Given the description of an element on the screen output the (x, y) to click on. 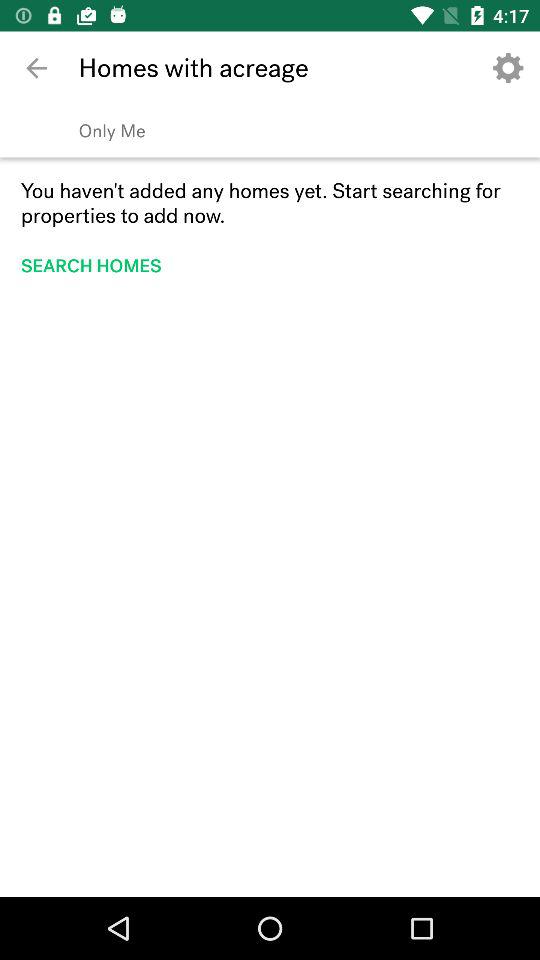
open item above the only me icon (36, 68)
